Given the description of an element on the screen output the (x, y) to click on. 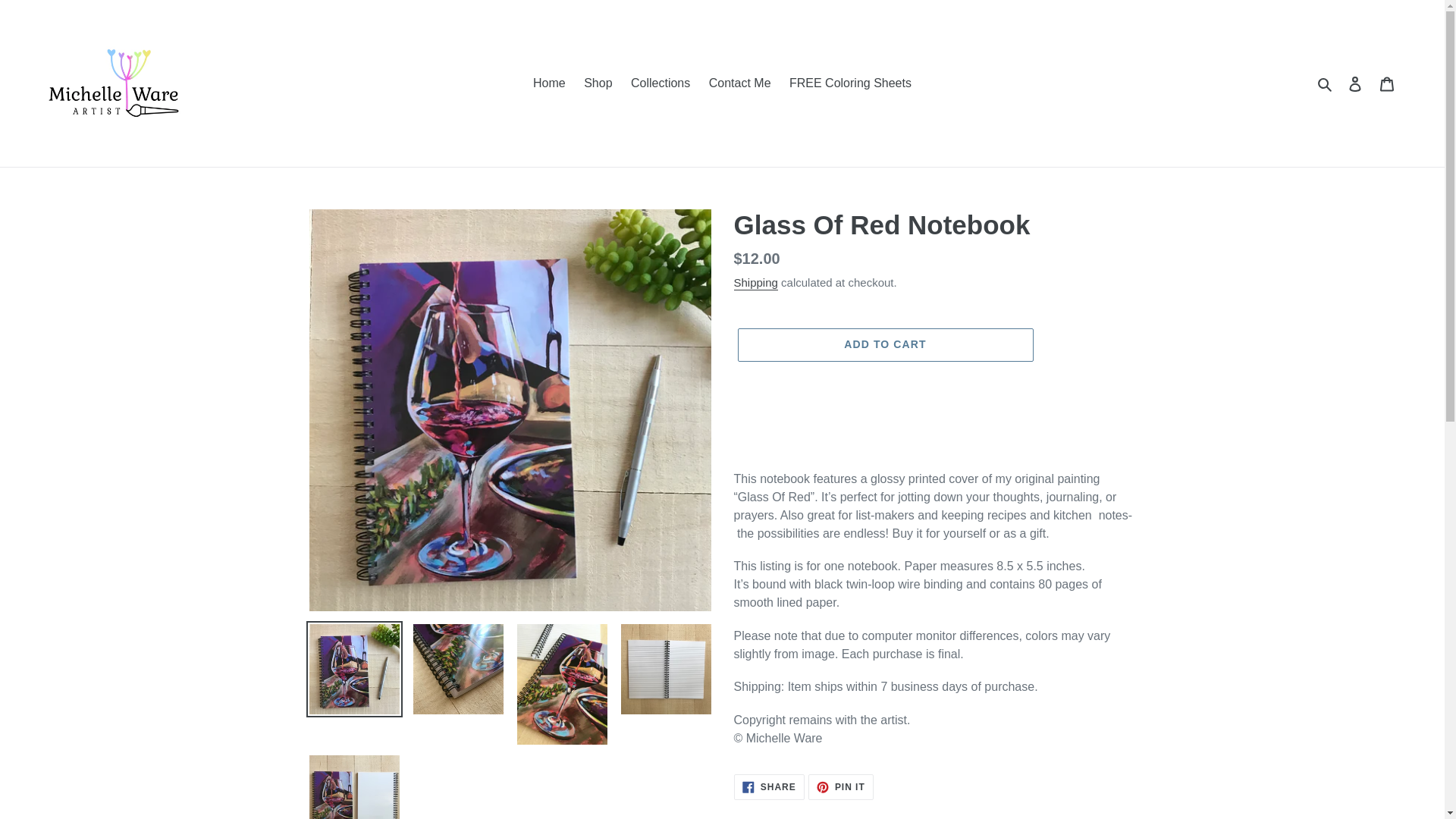
Shipping (755, 283)
Search (1326, 83)
Shop (598, 83)
Home (549, 83)
Collections (660, 83)
Contact Me (739, 83)
Cart (1387, 82)
Log in (769, 786)
ADD TO CART (1355, 82)
